Given the description of an element on the screen output the (x, y) to click on. 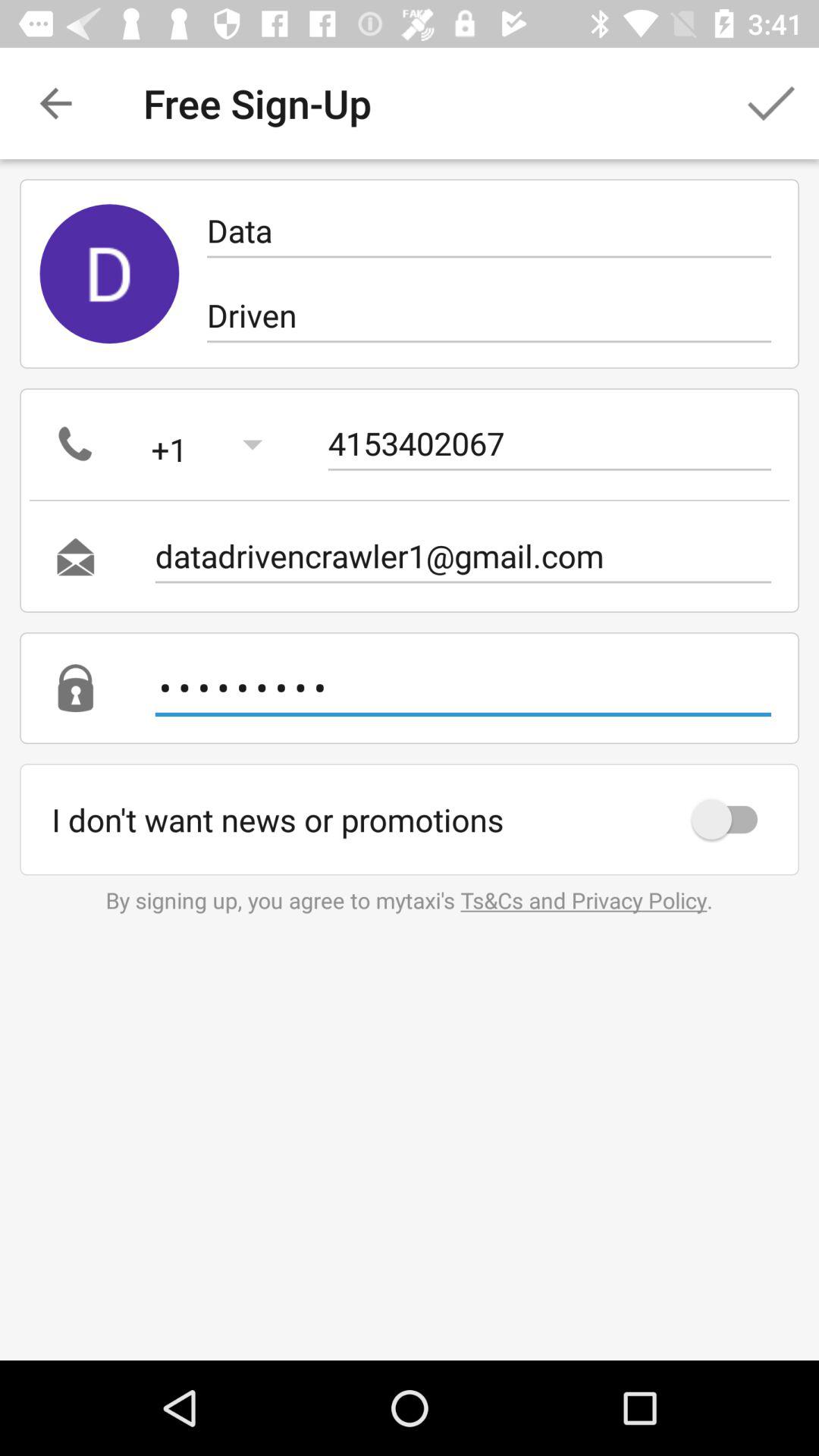
choose item next to the free sign-up icon (771, 103)
